Given the description of an element on the screen output the (x, y) to click on. 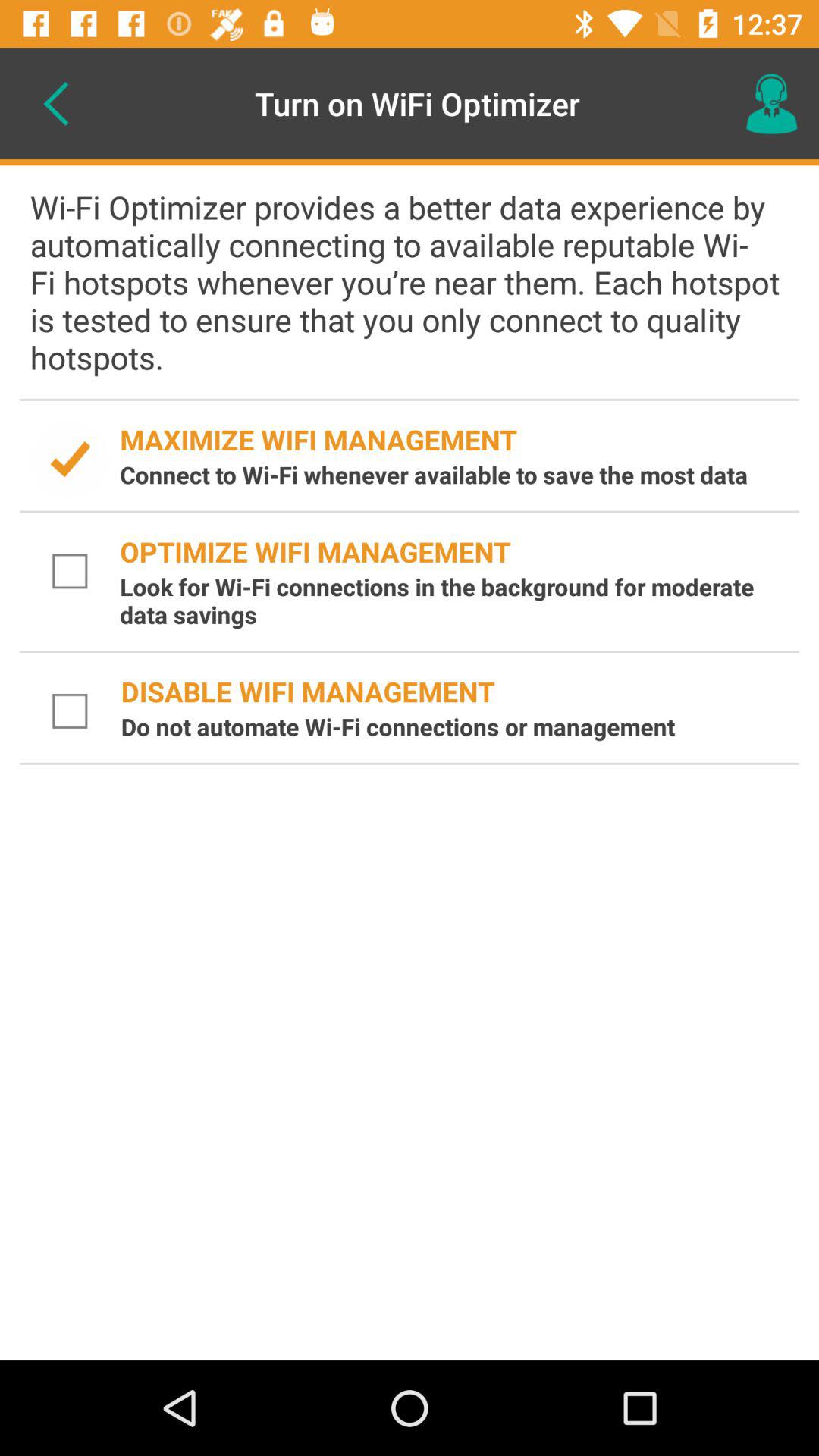
click the icon next to the turn on wifi (771, 103)
